Given the description of an element on the screen output the (x, y) to click on. 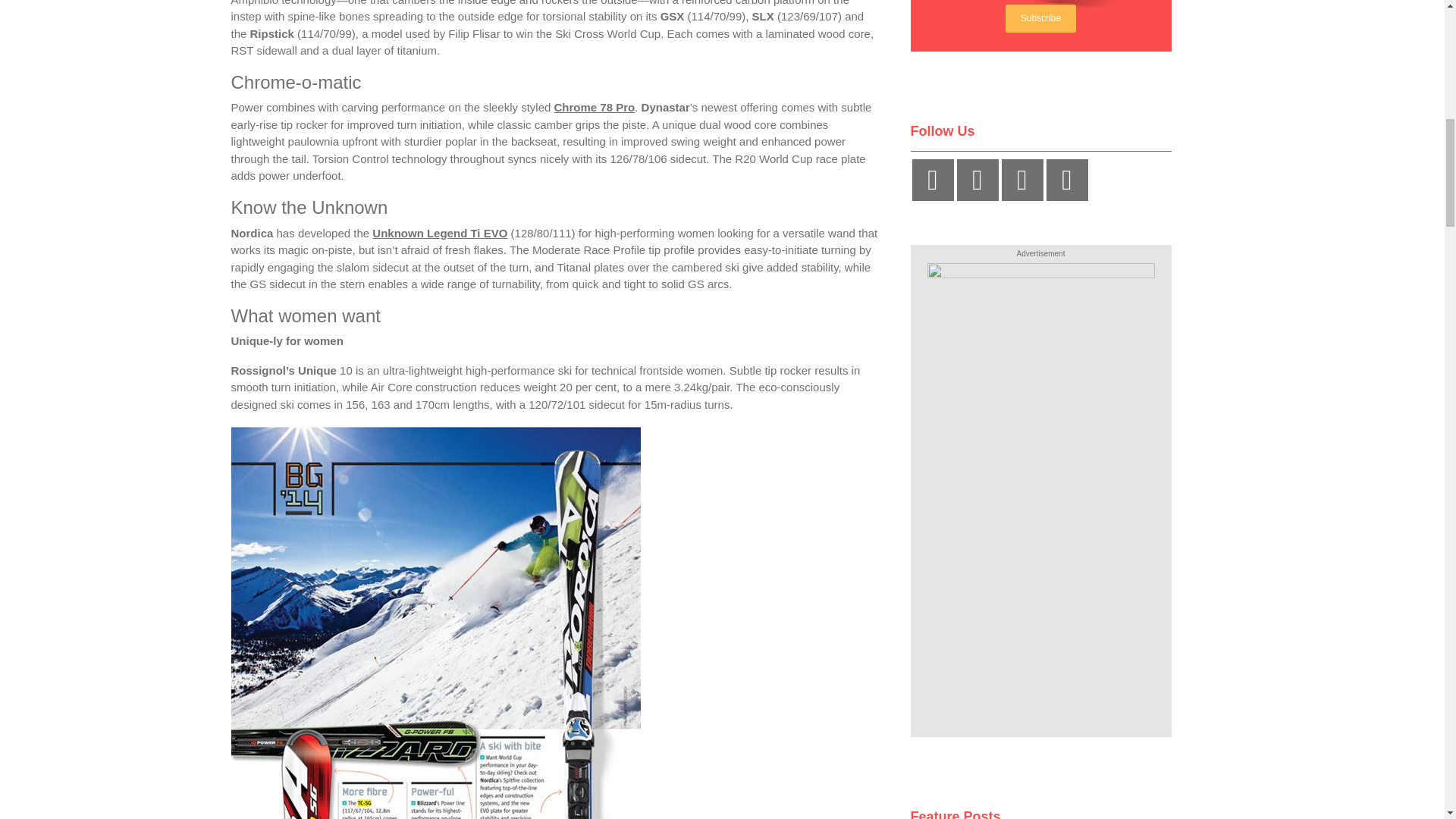
twitter (1066, 179)
youtube (977, 179)
facebook (1021, 179)
instagram (932, 179)
